Given the description of an element on the screen output the (x, y) to click on. 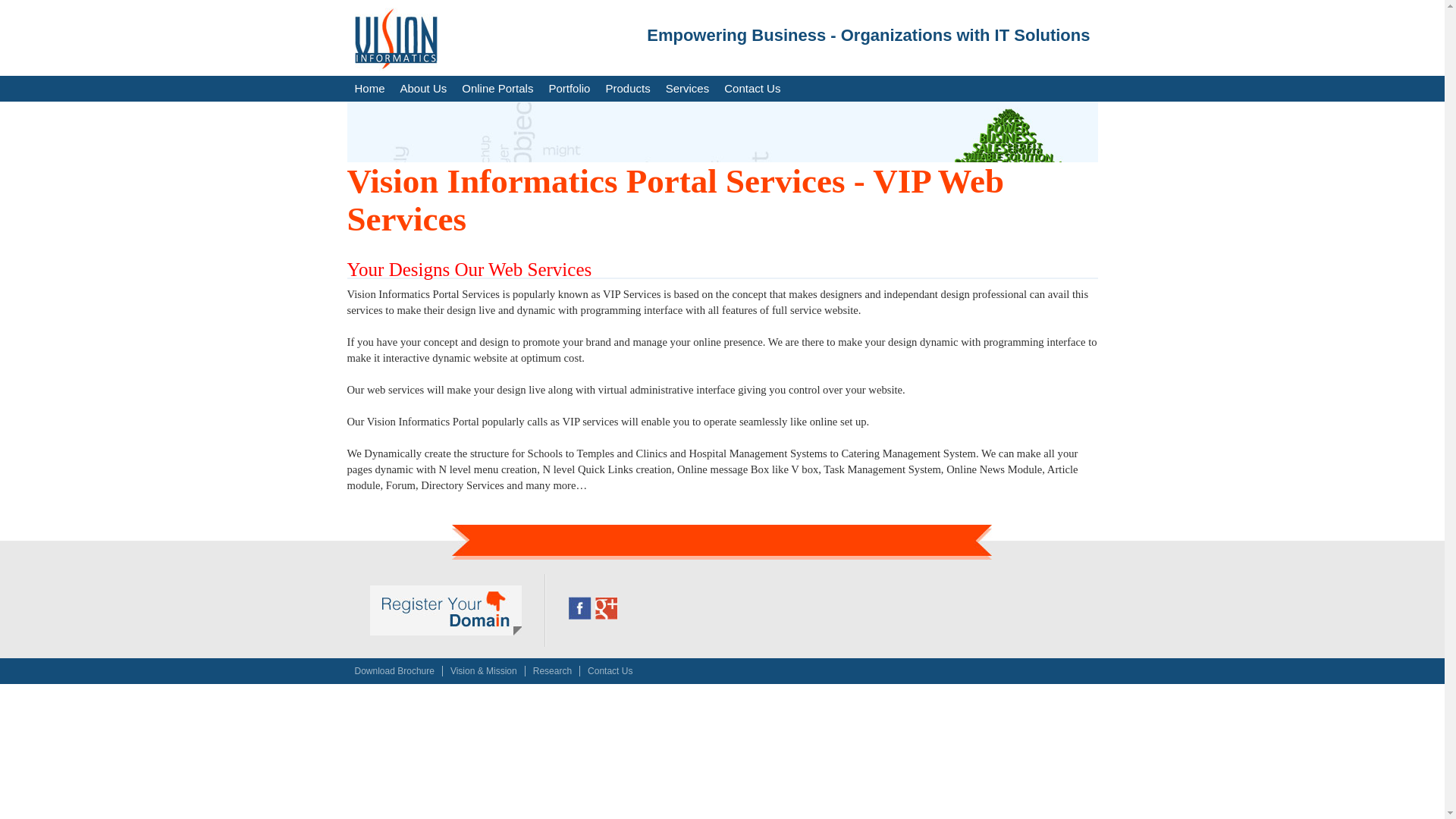
Contact Us (609, 670)
Online Portals (497, 88)
Contact Us (751, 88)
Download Brochure (394, 670)
Services (687, 88)
Home (370, 88)
Portfolio (568, 88)
Products (627, 88)
Research (552, 670)
About Us (423, 88)
